Given the description of an element on the screen output the (x, y) to click on. 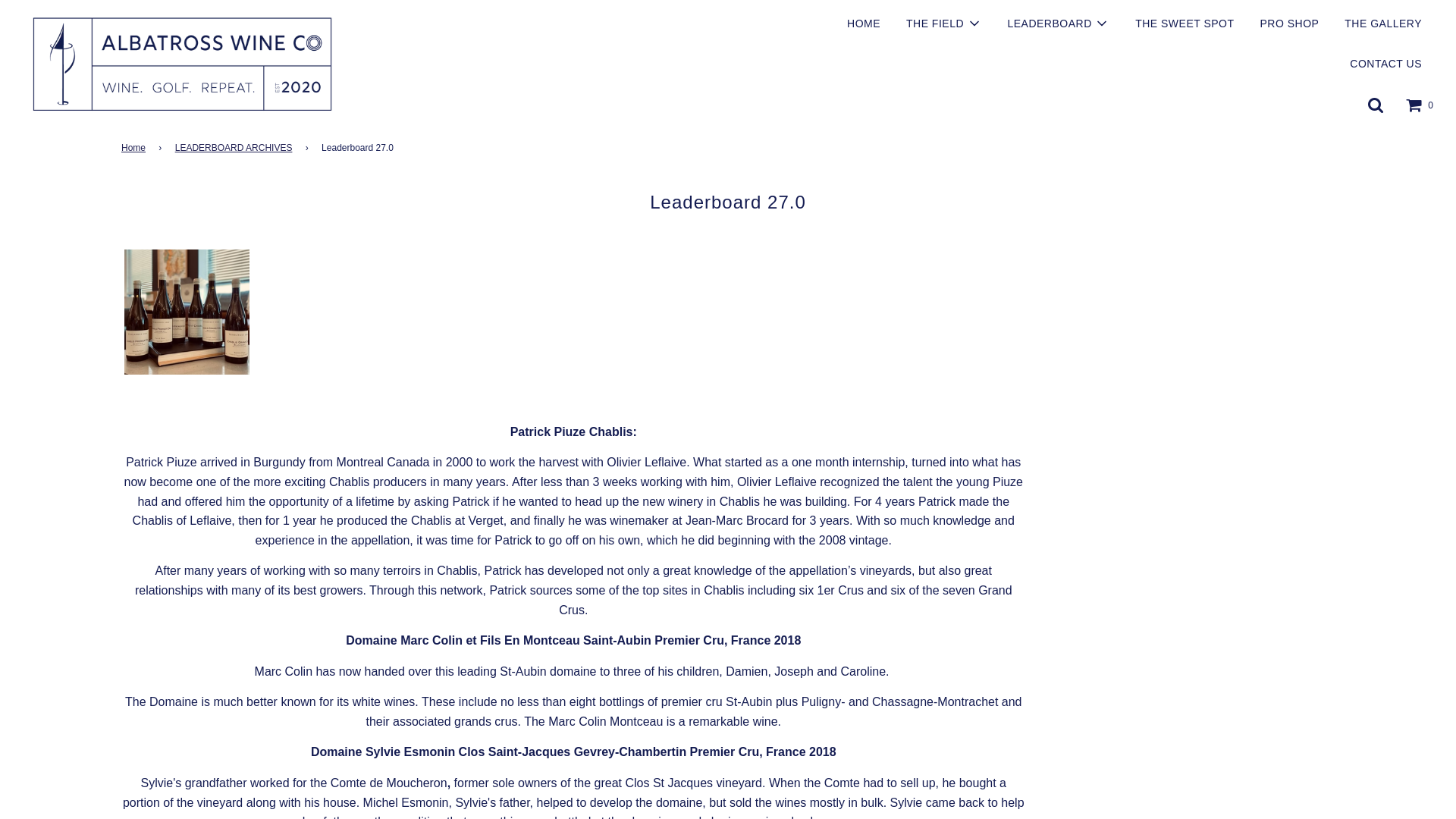
PRO SHOP (1288, 23)
THE FIELD (943, 23)
LEADERBOARD ARCHIVES (236, 147)
CONTACT US (1385, 63)
THE SWEET SPOT (1184, 23)
THE GALLERY (1382, 23)
Home (135, 147)
Back to the frontpage (135, 147)
HOME (863, 23)
0 (1419, 104)
LEADERBOARD (1058, 23)
